Given the description of an element on the screen output the (x, y) to click on. 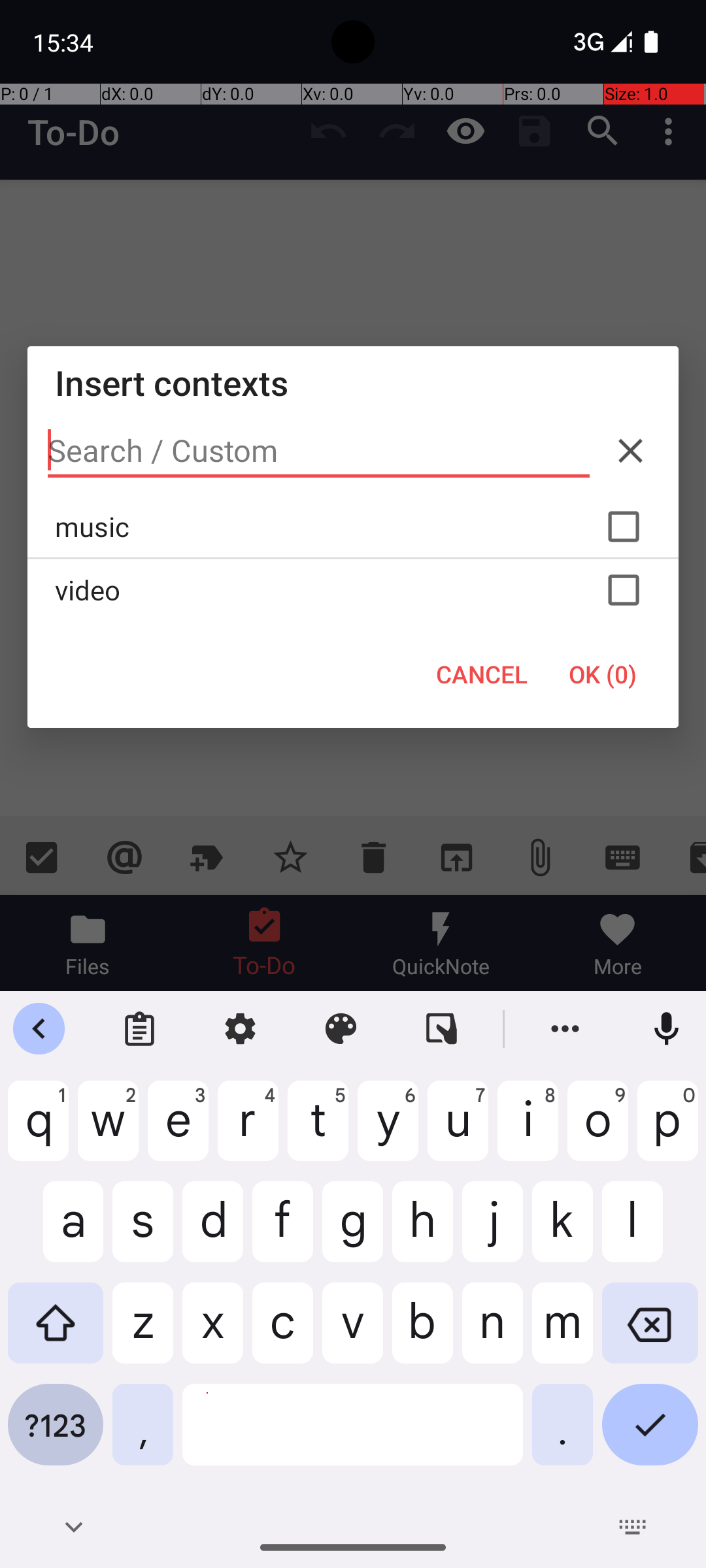
Insert contexts Element type: android.widget.TextView (352, 382)
Search / Custom Element type: android.widget.EditText (318, 450)
music Element type: android.widget.CheckedTextView (352, 526)
video Element type: android.widget.CheckedTextView (352, 589)
OK (0) Element type: android.widget.Button (602, 673)
